Given the description of an element on the screen output the (x, y) to click on. 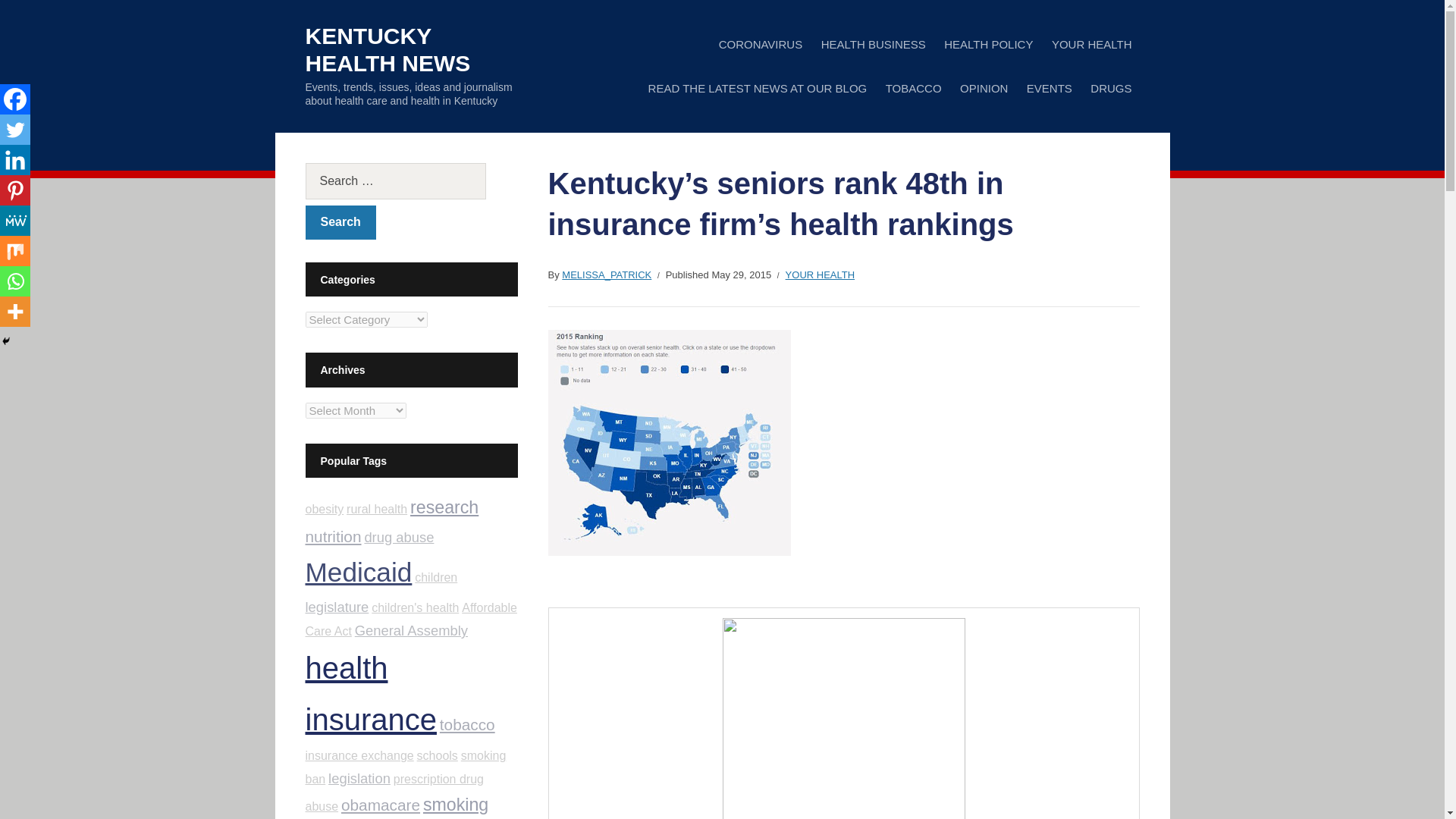
OPINION (983, 88)
Twitter (15, 129)
HEALTH BUSINESS (873, 44)
Whatsapp (15, 281)
YOUR HEALTH (1091, 44)
Linkedin (15, 159)
Search (339, 222)
Pinterest (15, 190)
Mix (15, 250)
Facebook (15, 99)
CORONAVIRUS (761, 44)
KENTUCKY HEALTH NEWS (387, 49)
DRUGS (1110, 88)
Search (339, 222)
MeWe (15, 220)
